Given the description of an element on the screen output the (x, y) to click on. 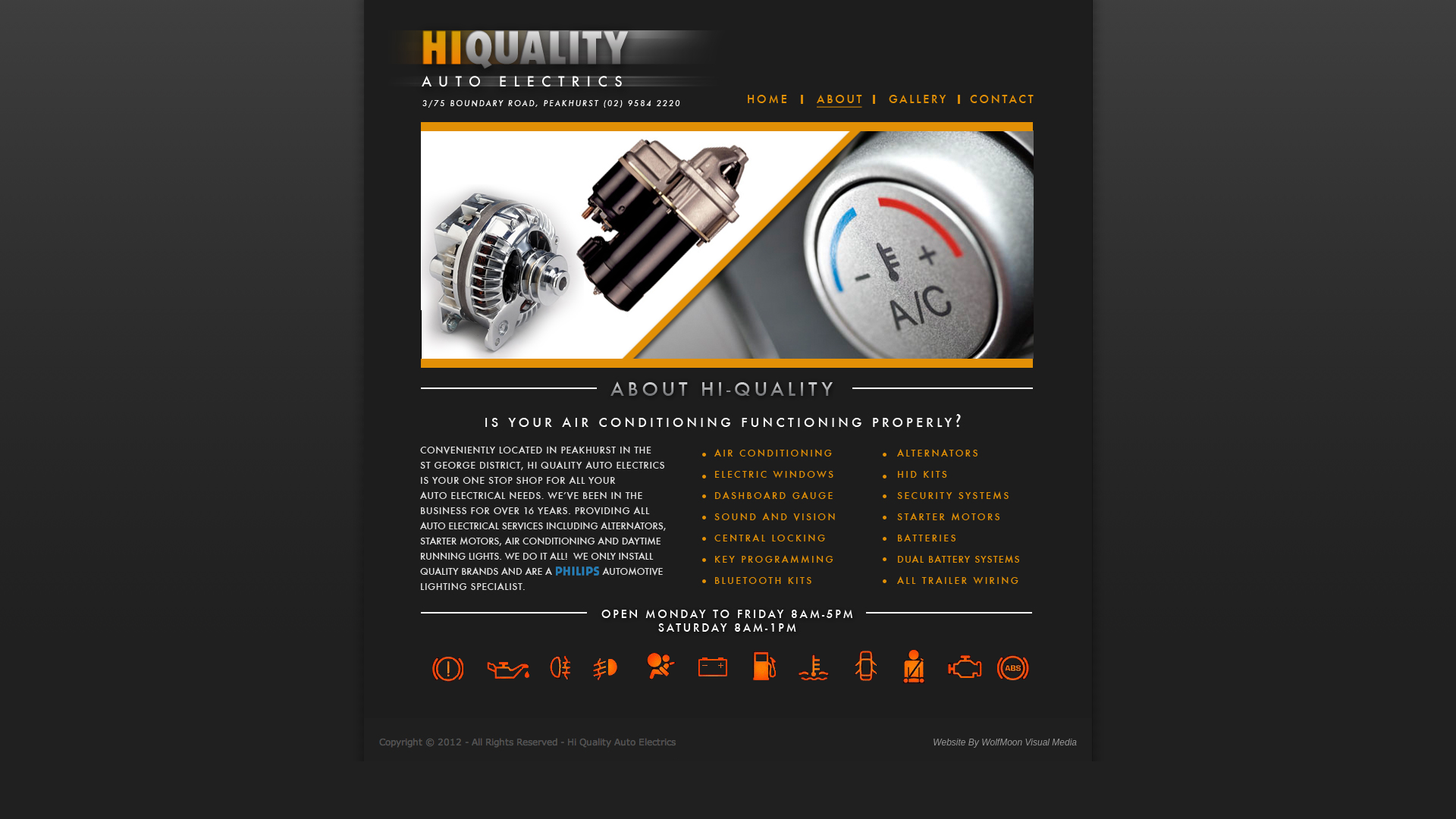
Website By WolfMoon Visual Media Element type: text (1004, 742)
